Given the description of an element on the screen output the (x, y) to click on. 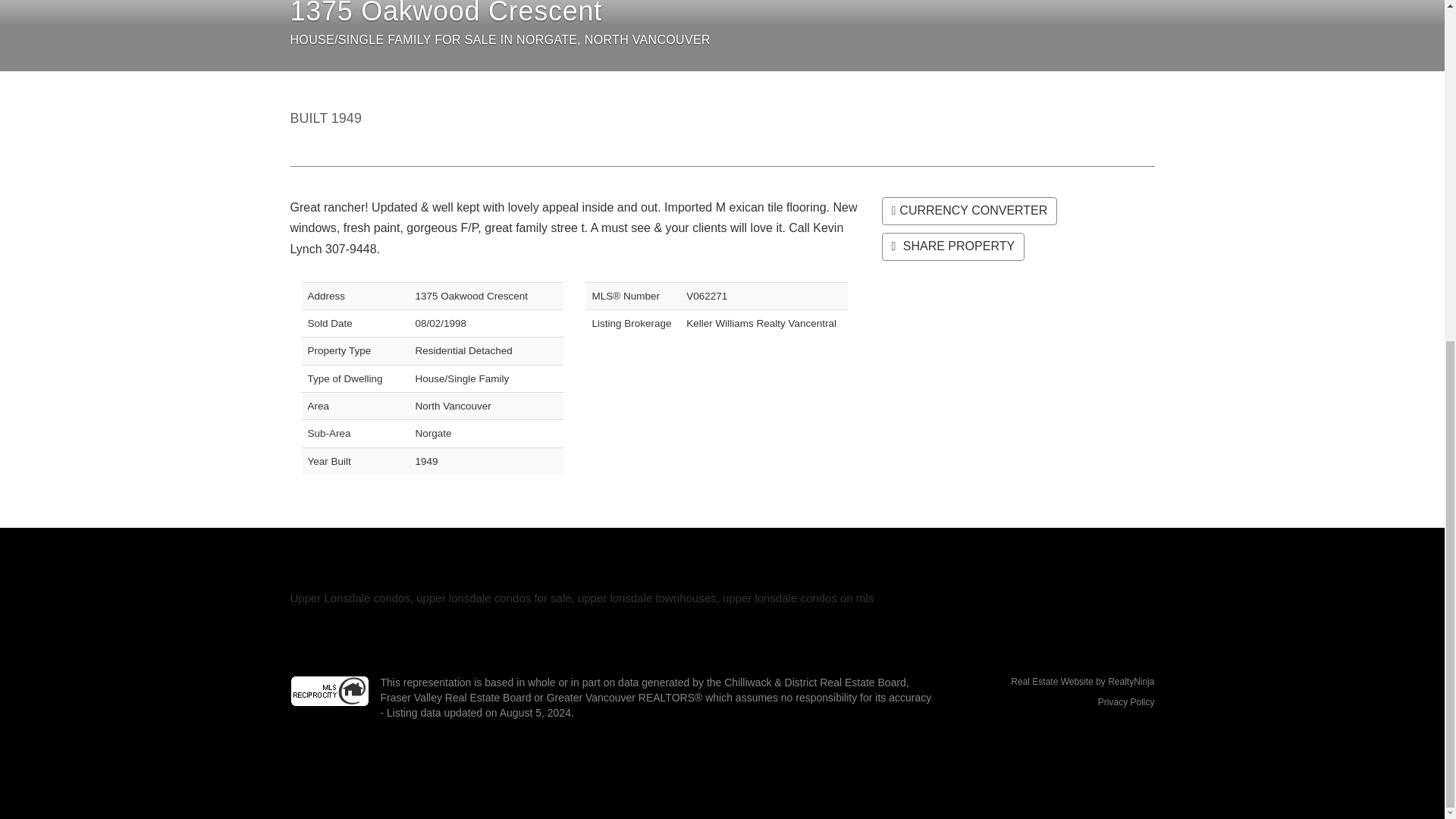
SHARE PROPERTY (952, 246)
Real Estate Website by RealtyNinja (1054, 681)
Privacy Policy (1125, 701)
CURRENCY CONVERTER (968, 211)
